Given the description of an element on the screen output the (x, y) to click on. 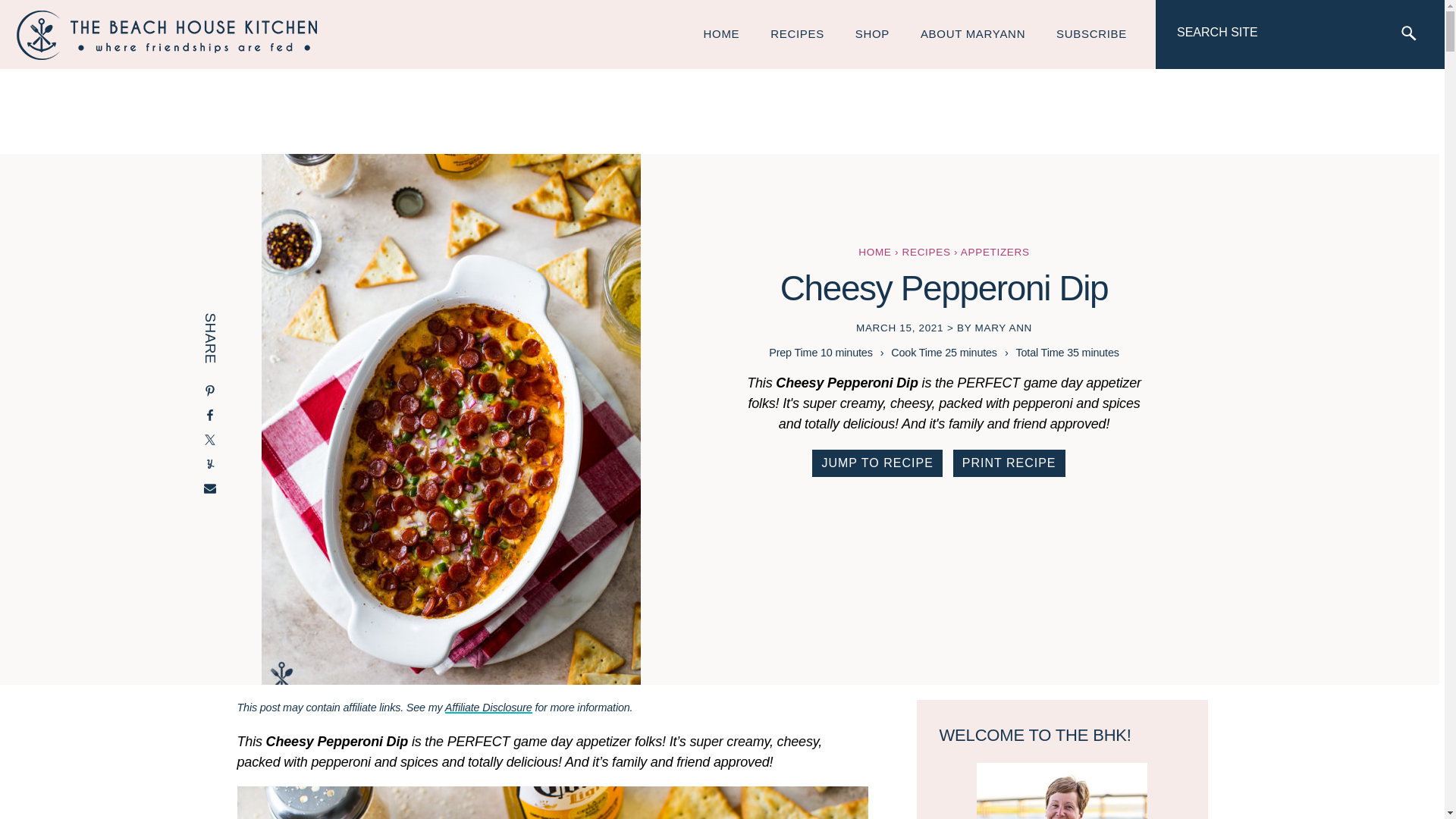
Share on Yummly (210, 465)
HOME (722, 33)
RECIPES (797, 33)
Share on Facebook (210, 416)
Share on Twitter (210, 441)
Share on Pinterest (210, 392)
Share via Email (210, 489)
